Given the description of an element on the screen output the (x, y) to click on. 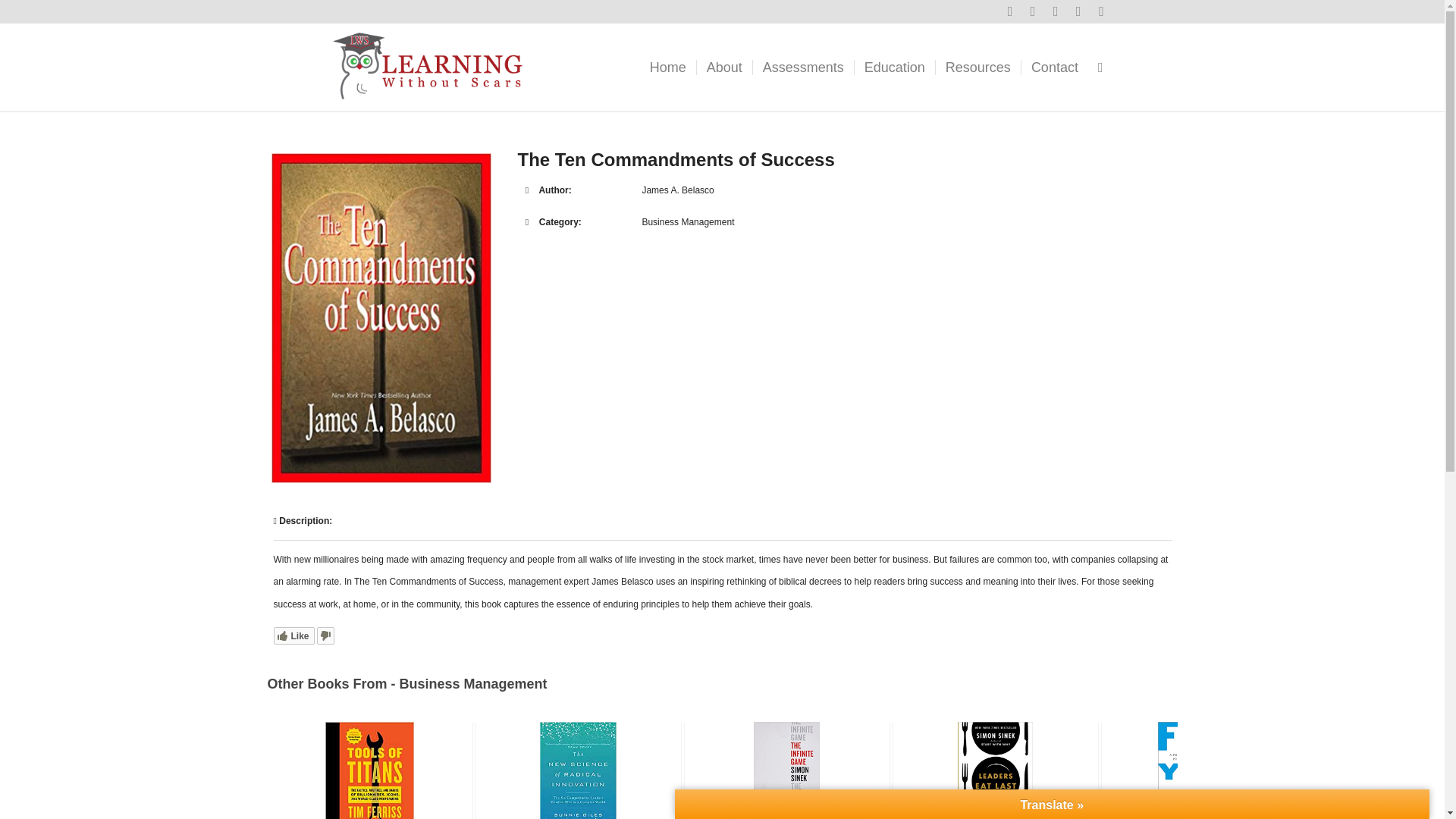
Mail (1078, 11)
Facebook (1101, 11)
Education (893, 67)
Assessments (802, 67)
About (723, 67)
Resources (977, 67)
Rss (1032, 11)
Twitter (1010, 11)
LinkedIn (1056, 11)
learning-without-scars-logo-2020 (427, 67)
Home (667, 67)
